Given the description of an element on the screen output the (x, y) to click on. 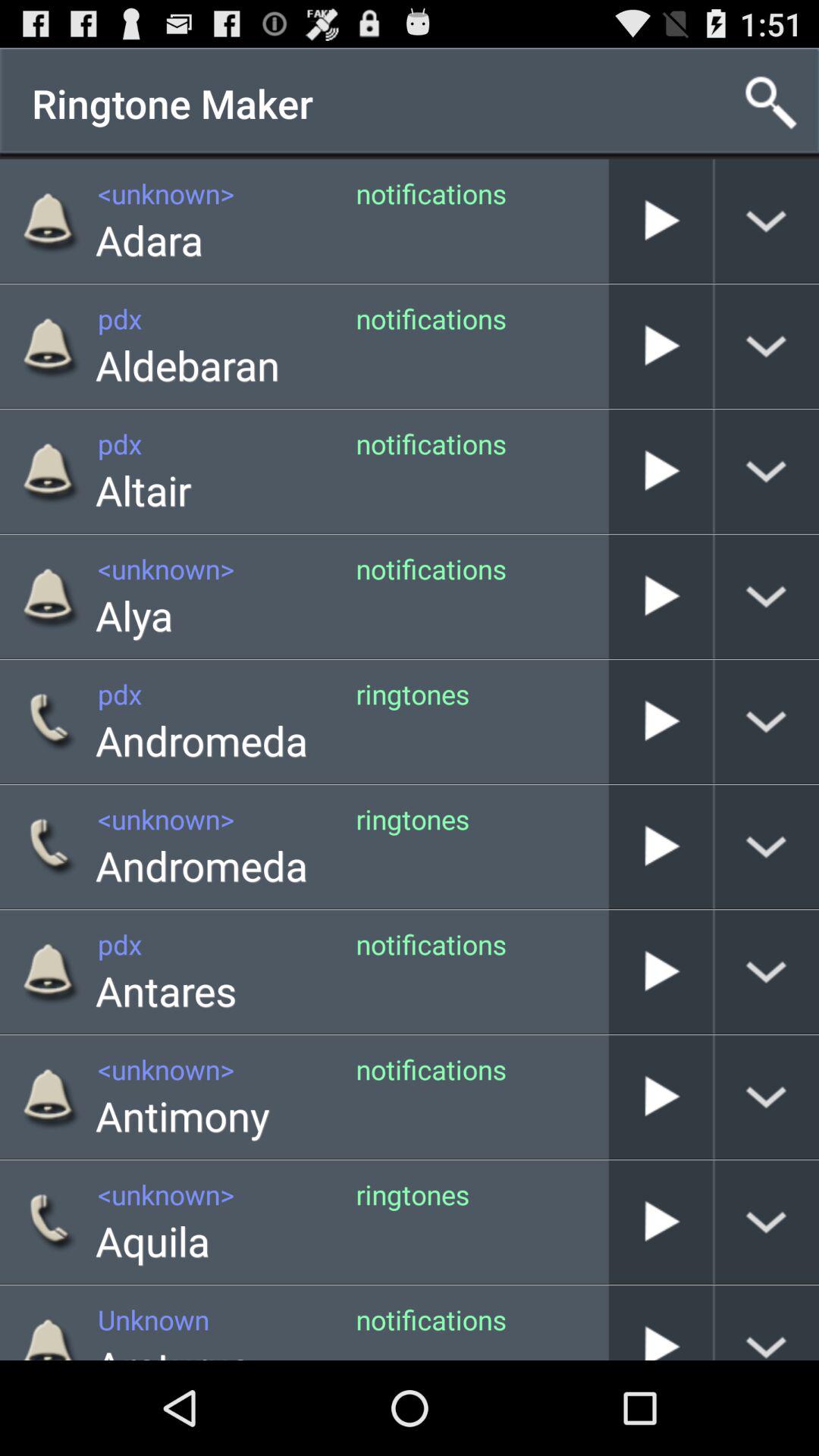
click to view details (767, 721)
